Given the description of an element on the screen output the (x, y) to click on. 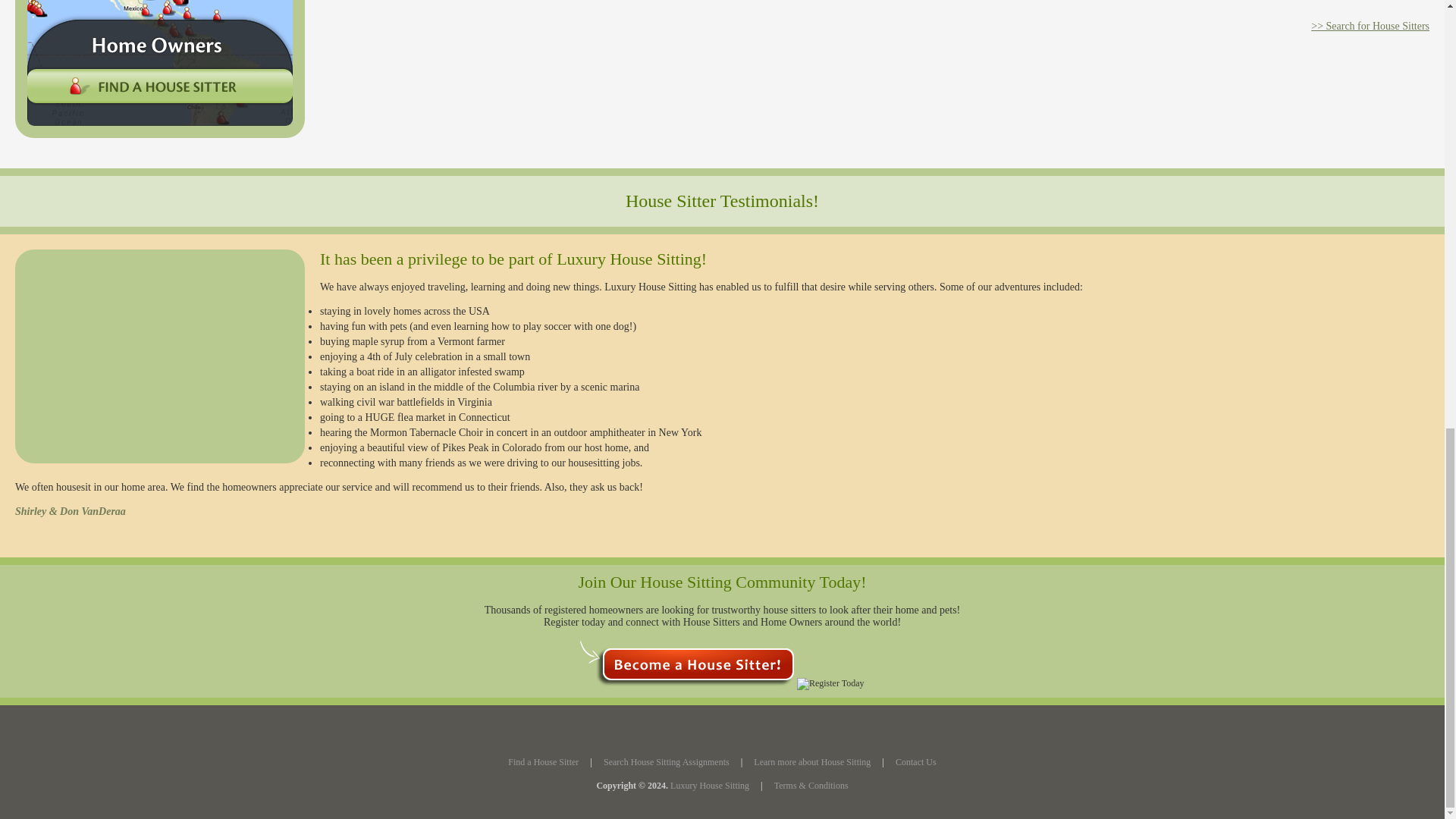
Search House Sitting Assignments (666, 761)
Home Owners - Find a House Sitter! (159, 69)
Register Today (686, 663)
Luxury House Sitting (709, 785)
Contact Us (915, 761)
Learn more about House Sitting (812, 761)
Register Today (830, 684)
Find a House Sitter (543, 761)
